Given the description of an element on the screen output the (x, y) to click on. 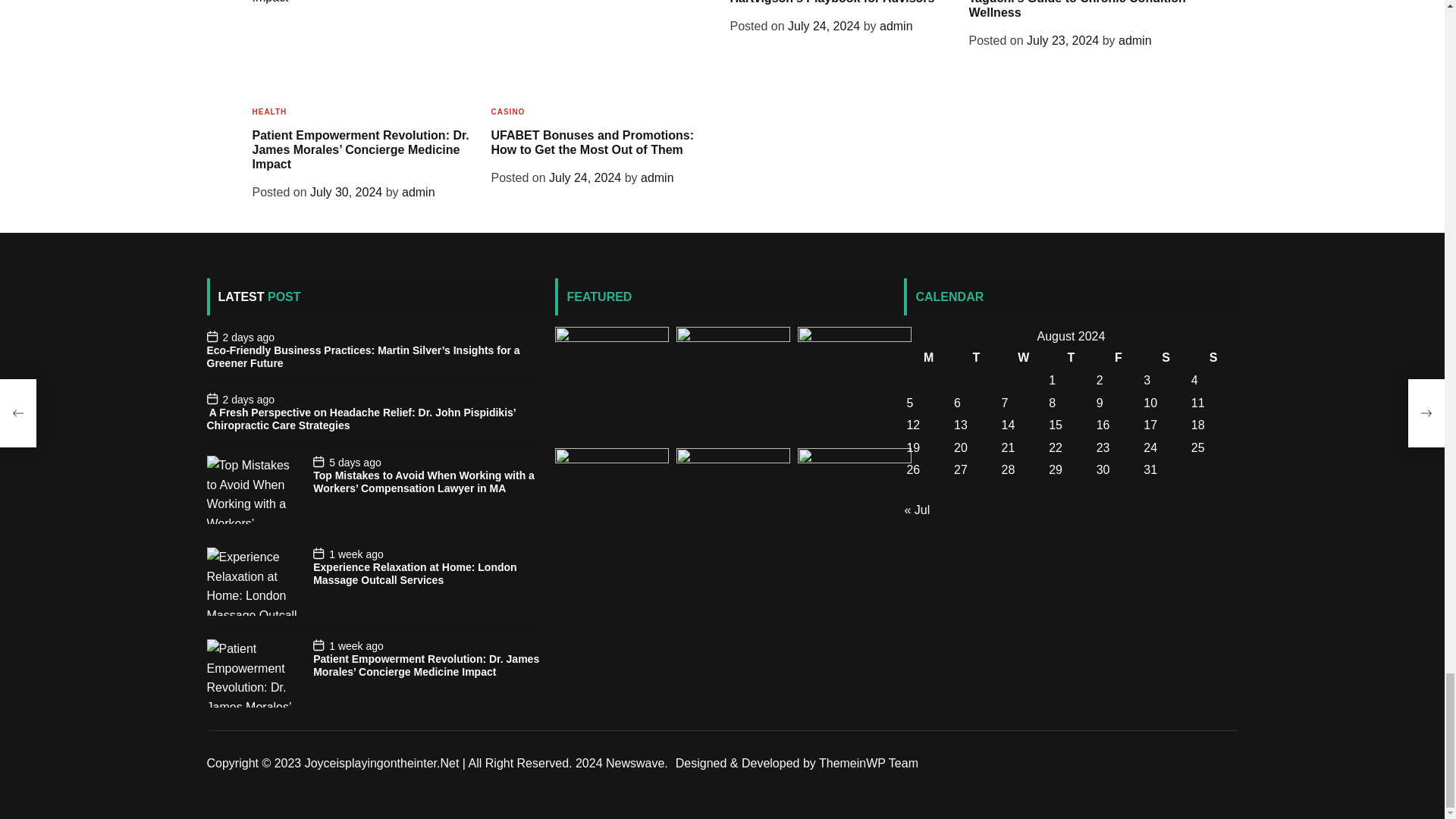
Saturday (1165, 357)
Thursday (1071, 357)
Sunday (1213, 357)
Tuesday (975, 357)
Monday (928, 357)
Wednesday (1023, 357)
Friday (1118, 357)
